Given the description of an element on the screen output the (x, y) to click on. 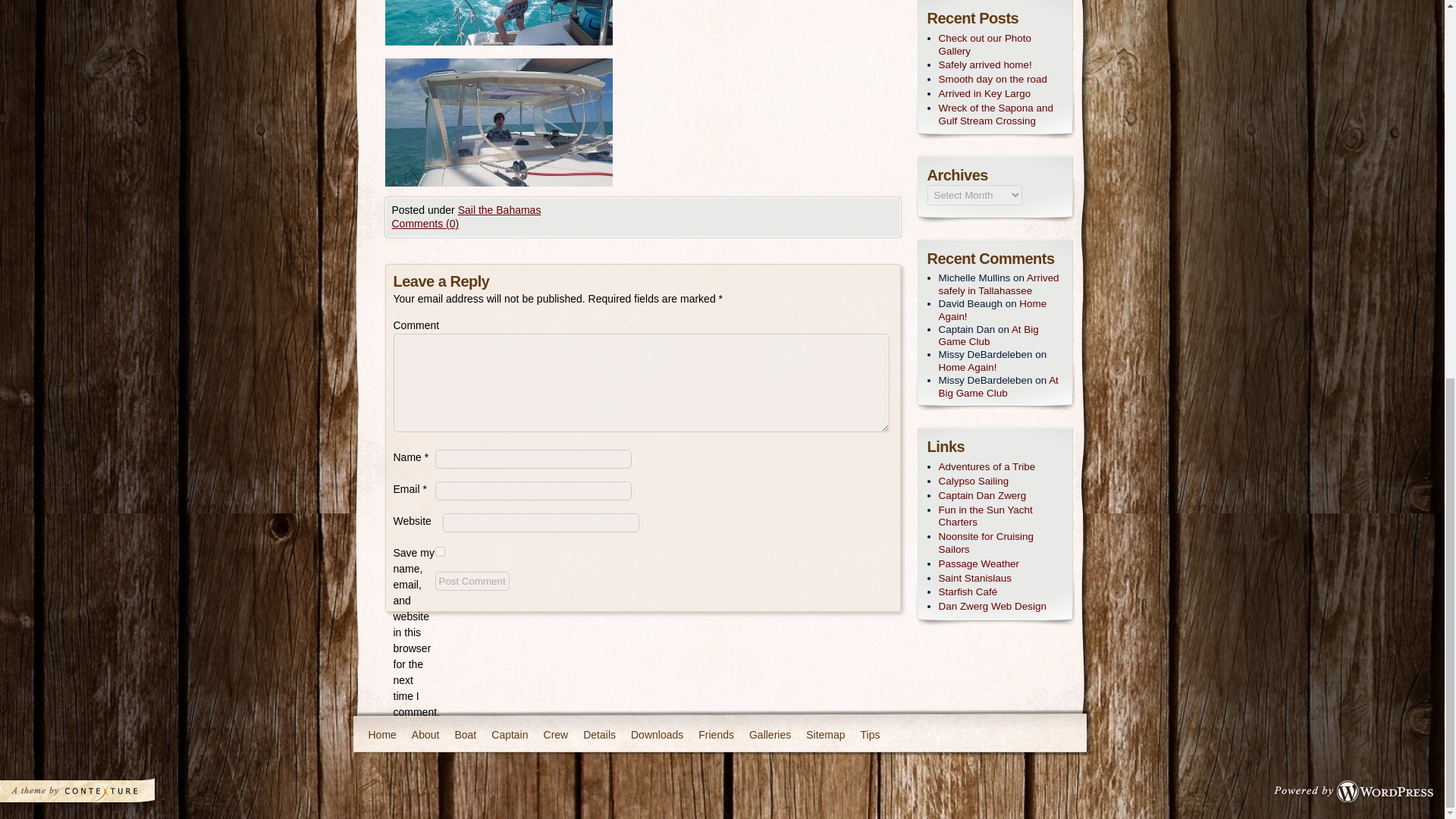
Post Comment (472, 580)
A WordPress Theme by Contexture International (97, 794)
yes (440, 551)
Post Comment (472, 580)
Sail the Bahamas (499, 209)
